Given the description of an element on the screen output the (x, y) to click on. 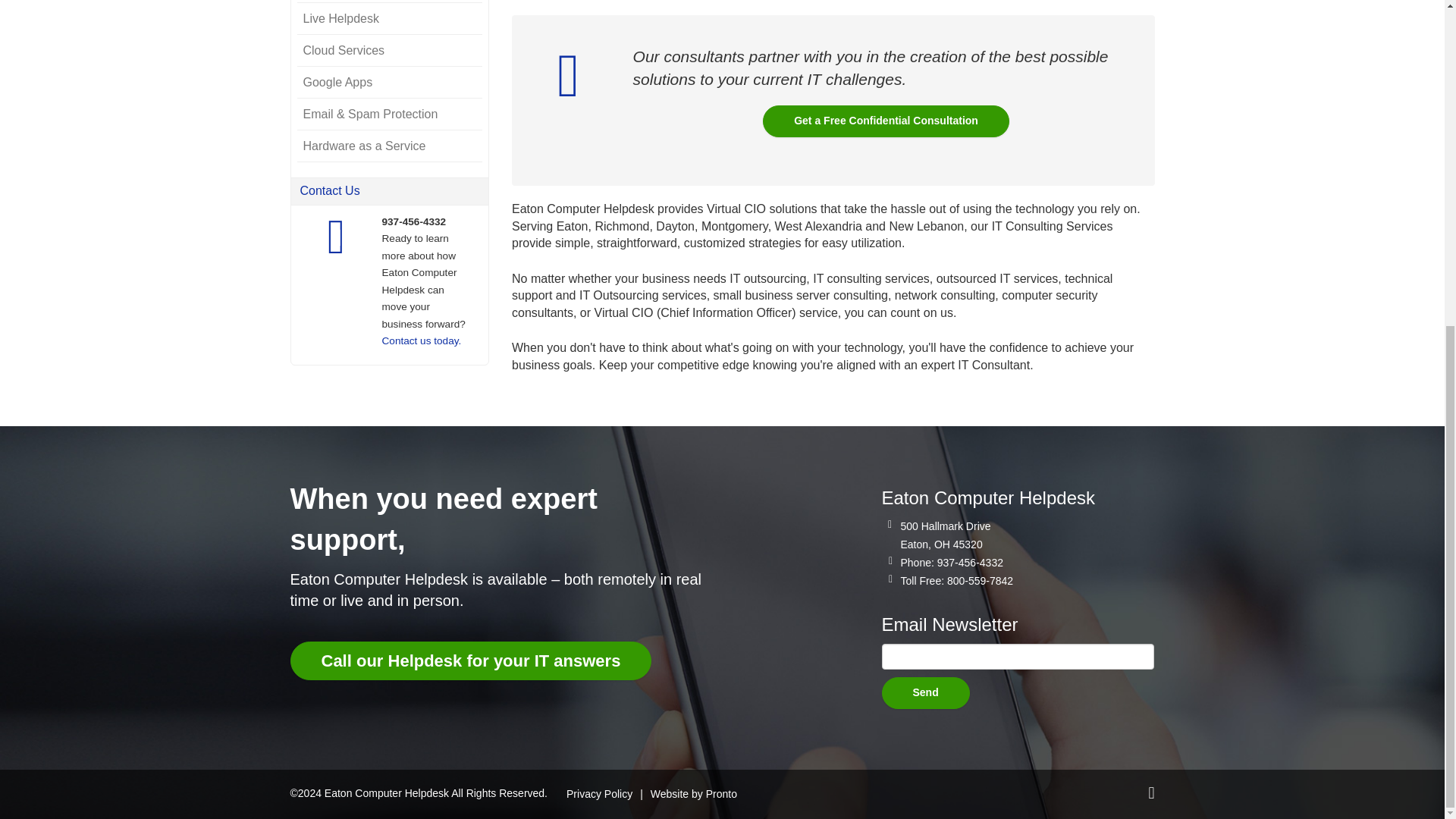
Get a Free Confidential Consultation (885, 121)
Send (924, 693)
